Given the description of an element on the screen output the (x, y) to click on. 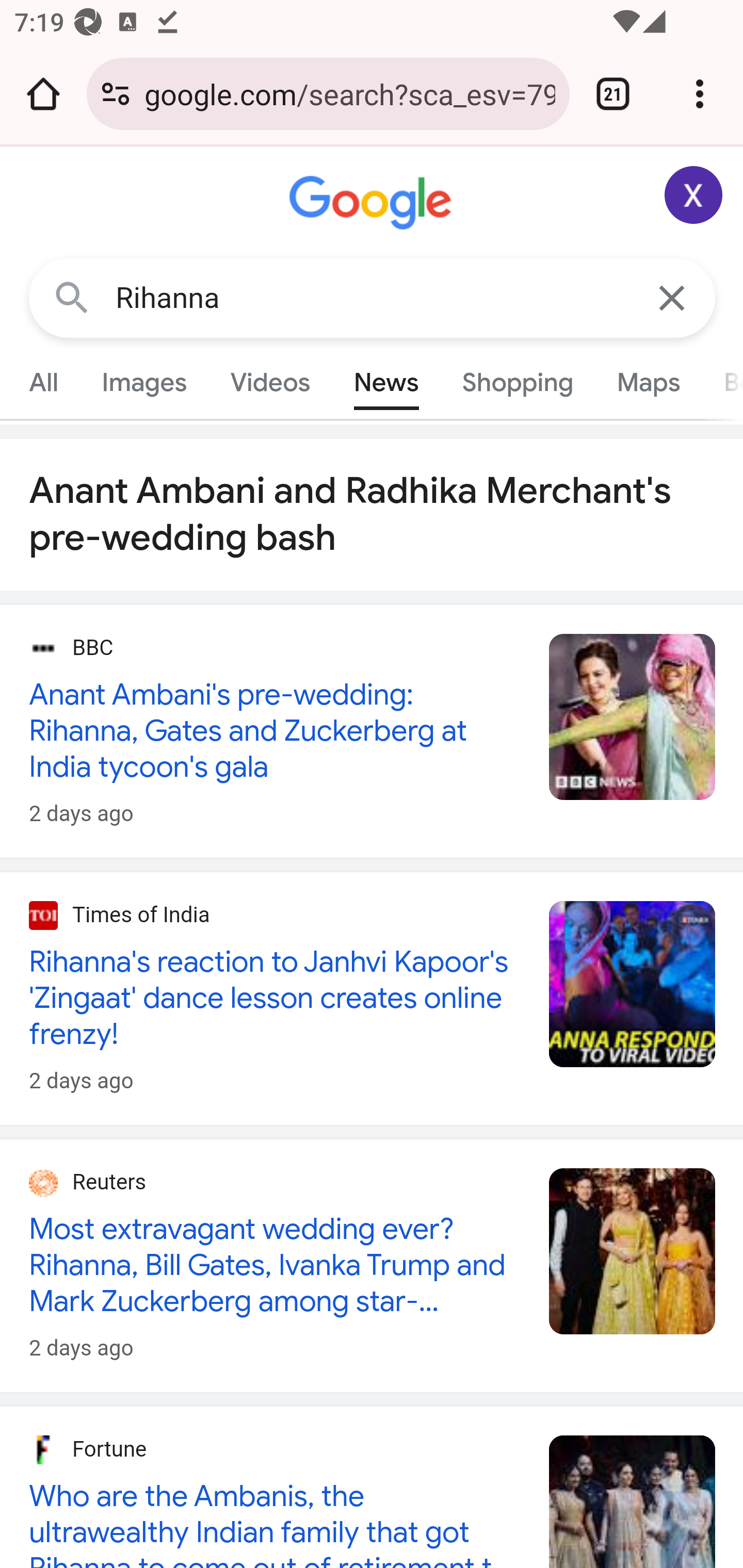
Open the home page (43, 93)
Connection is secure (115, 93)
Switch or close tabs (612, 93)
Customize and control Google Chrome (699, 93)
Google (372, 203)
Google Account: Xiaoran (zxrappiumtest@gmail.com) (694, 195)
Google Search (71, 296)
Clear Search (672, 296)
Rihanna (372, 297)
All (43, 382)
Images (144, 382)
Videos (270, 382)
Shopping (516, 382)
Maps (647, 382)
